Given the description of an element on the screen output the (x, y) to click on. 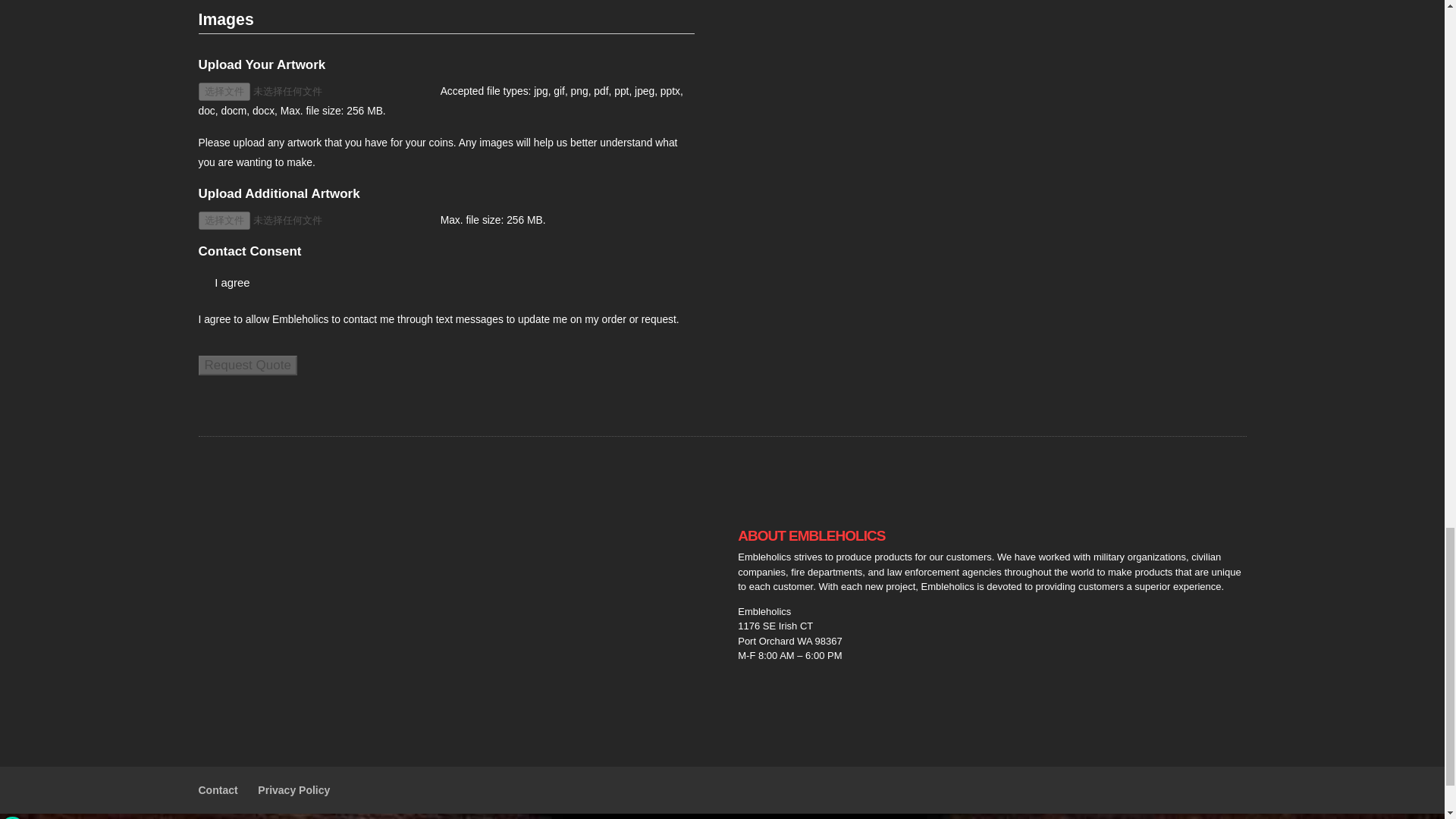
Request Quote (247, 365)
Request Quote (247, 365)
The privacy policy for our site  (293, 789)
